Given the description of an element on the screen output the (x, y) to click on. 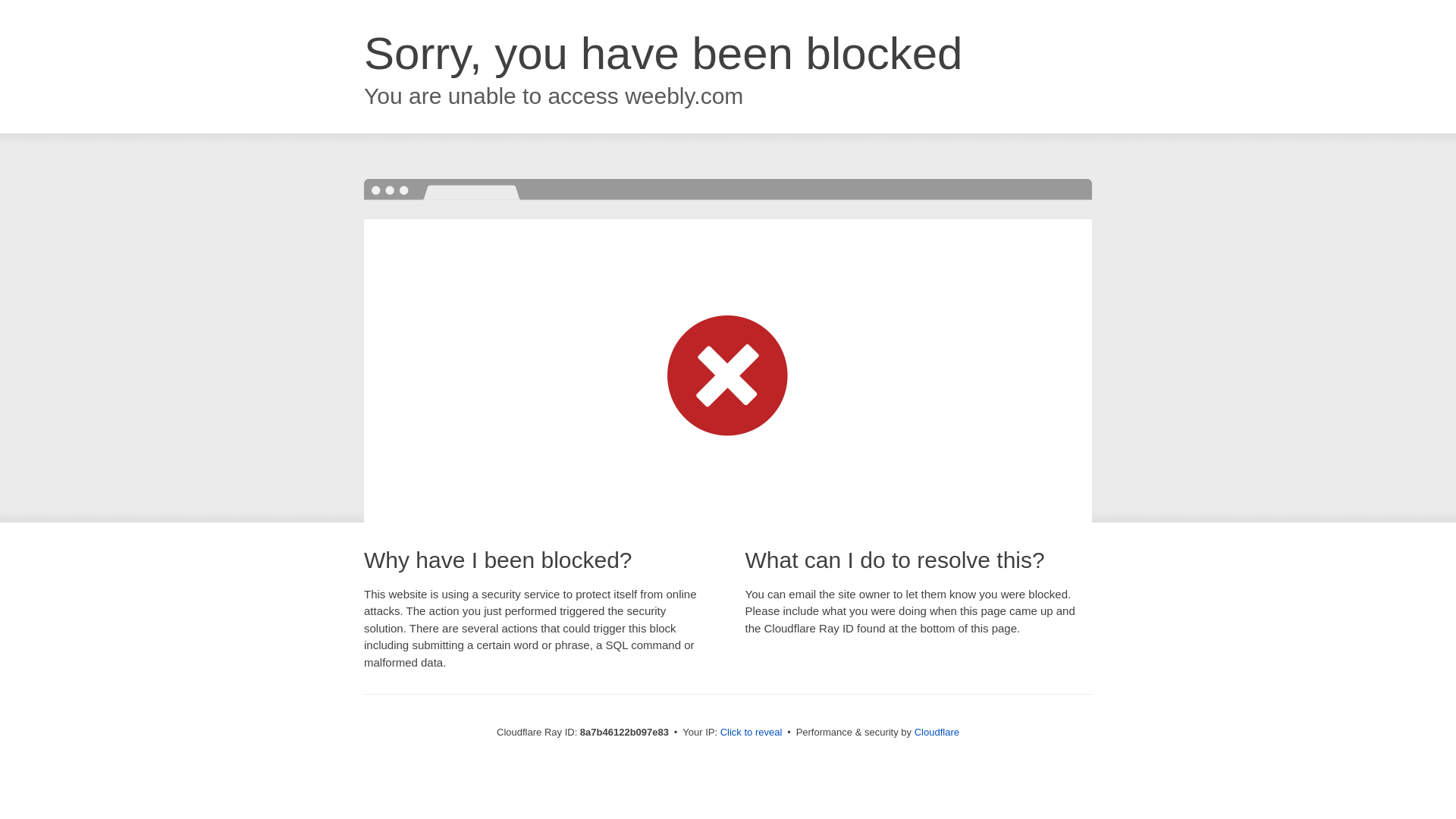
Click to reveal (751, 732)
Cloudflare (936, 731)
